Given the description of an element on the screen output the (x, y) to click on. 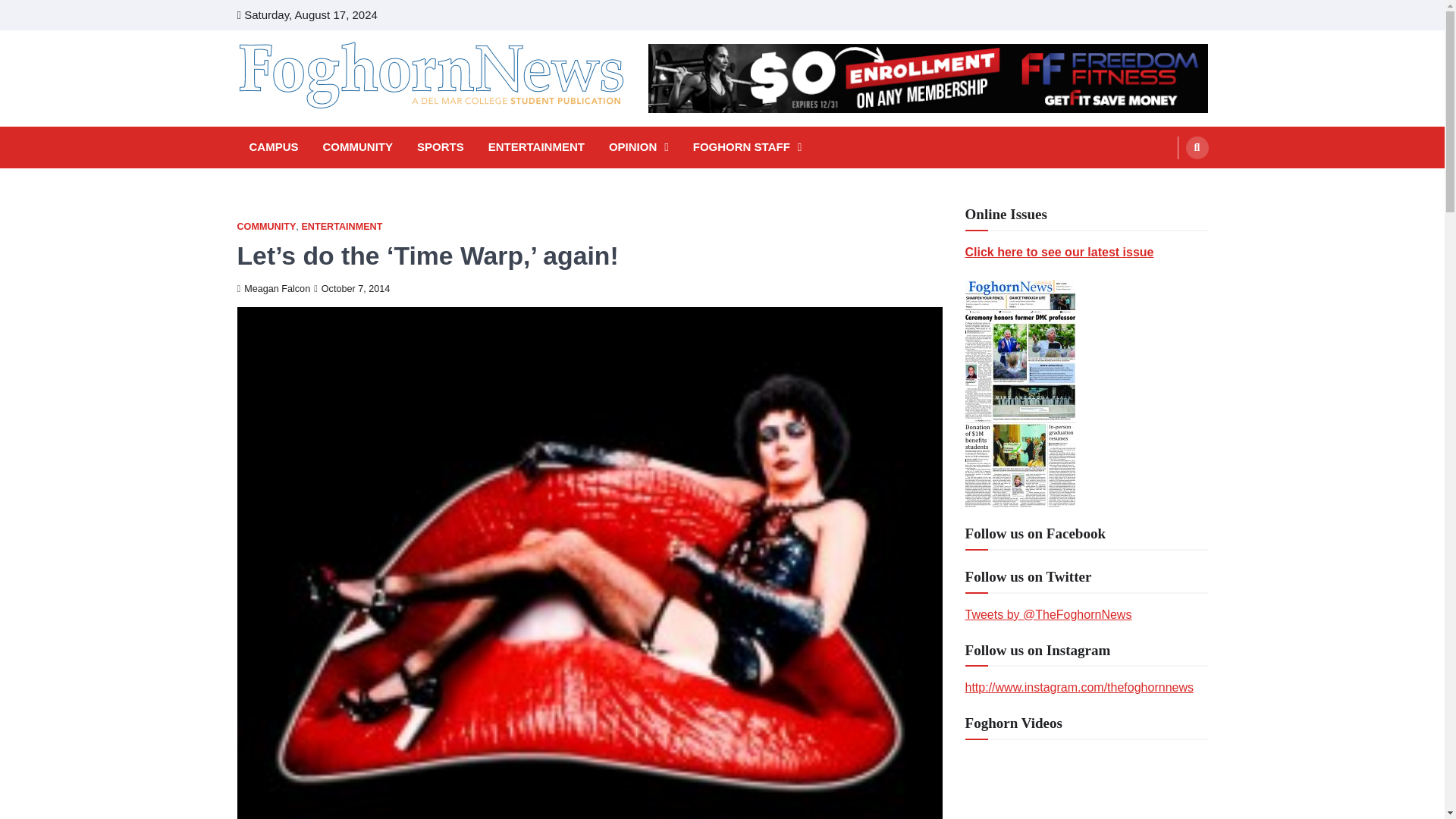
FOGHORN NEWS (342, 130)
Click here to see our latest issue (1058, 251)
OPINION (638, 147)
CAMPUS (273, 147)
October 7, 2014 (352, 288)
SPORTS (440, 147)
Meagan Falcon (272, 288)
Search (1197, 147)
FOGHORN STAFF (747, 147)
ENTERTAINMENT (341, 226)
